Given the description of an element on the screen output the (x, y) to click on. 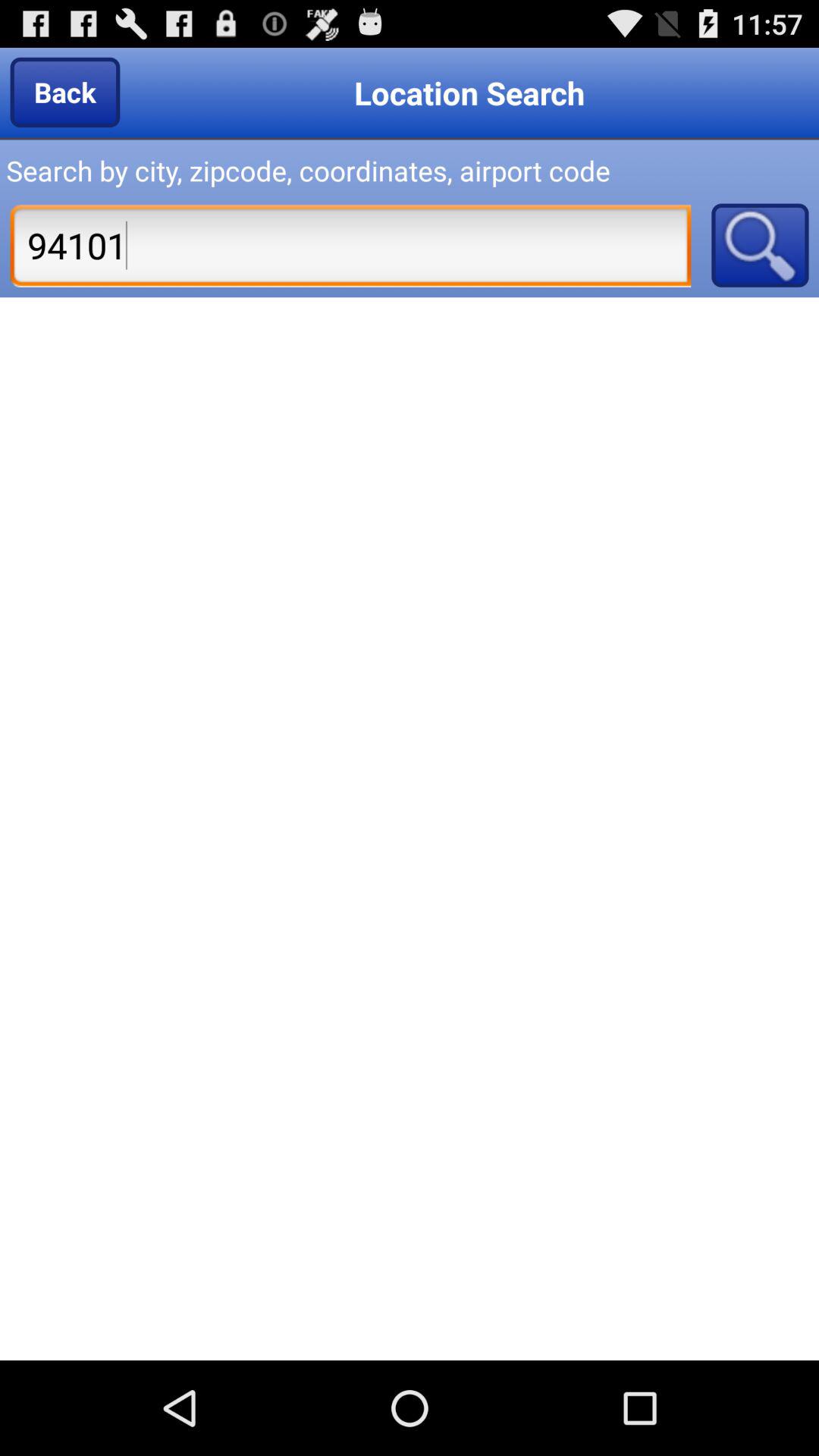
execute search (759, 245)
